Given the description of an element on the screen output the (x, y) to click on. 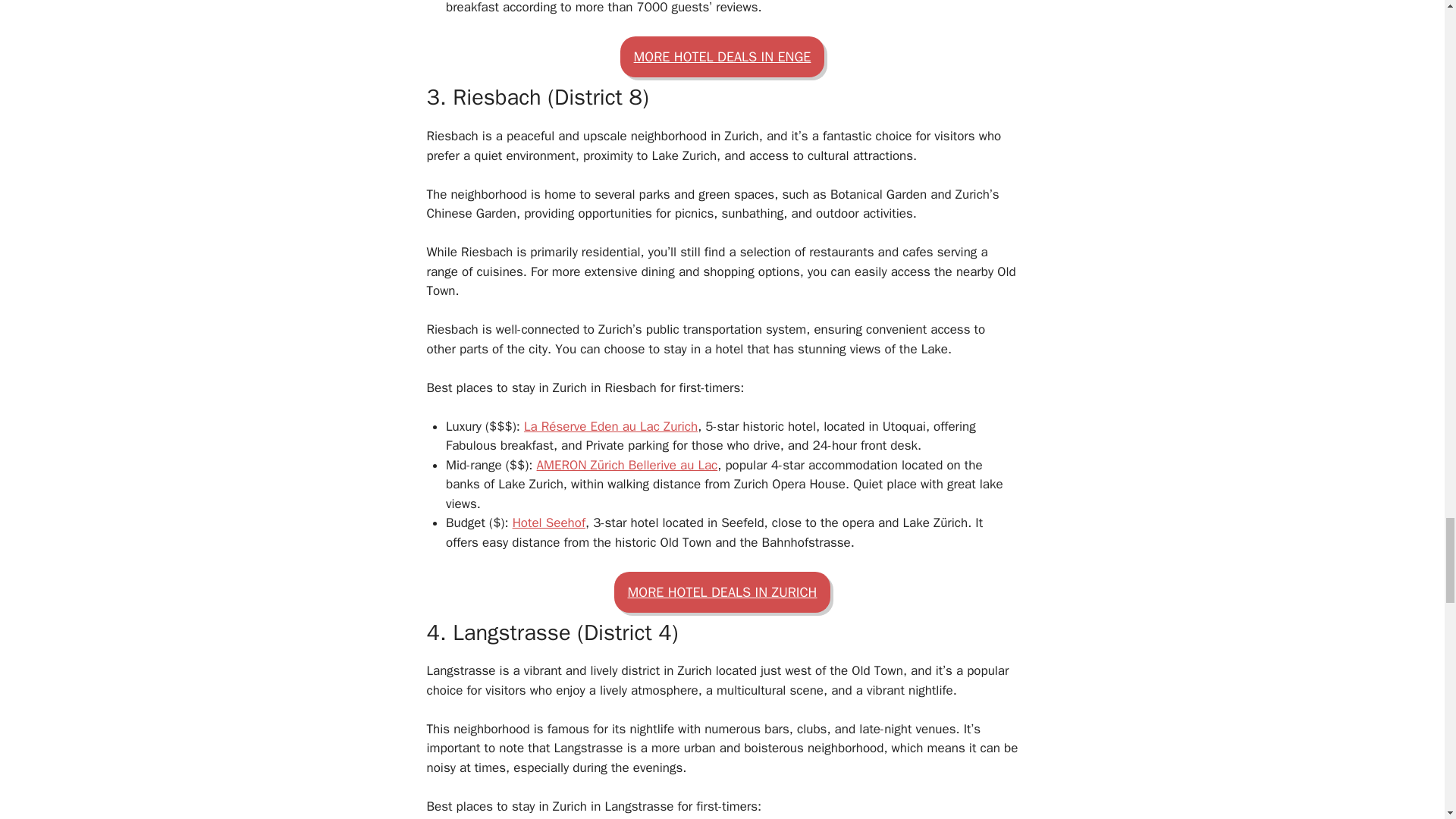
Hotel Seehof (548, 522)
MORE HOTEL DEALS IN ENGE (722, 56)
MORE HOTEL DEALS IN ZURICH (722, 591)
